Given the description of an element on the screen output the (x, y) to click on. 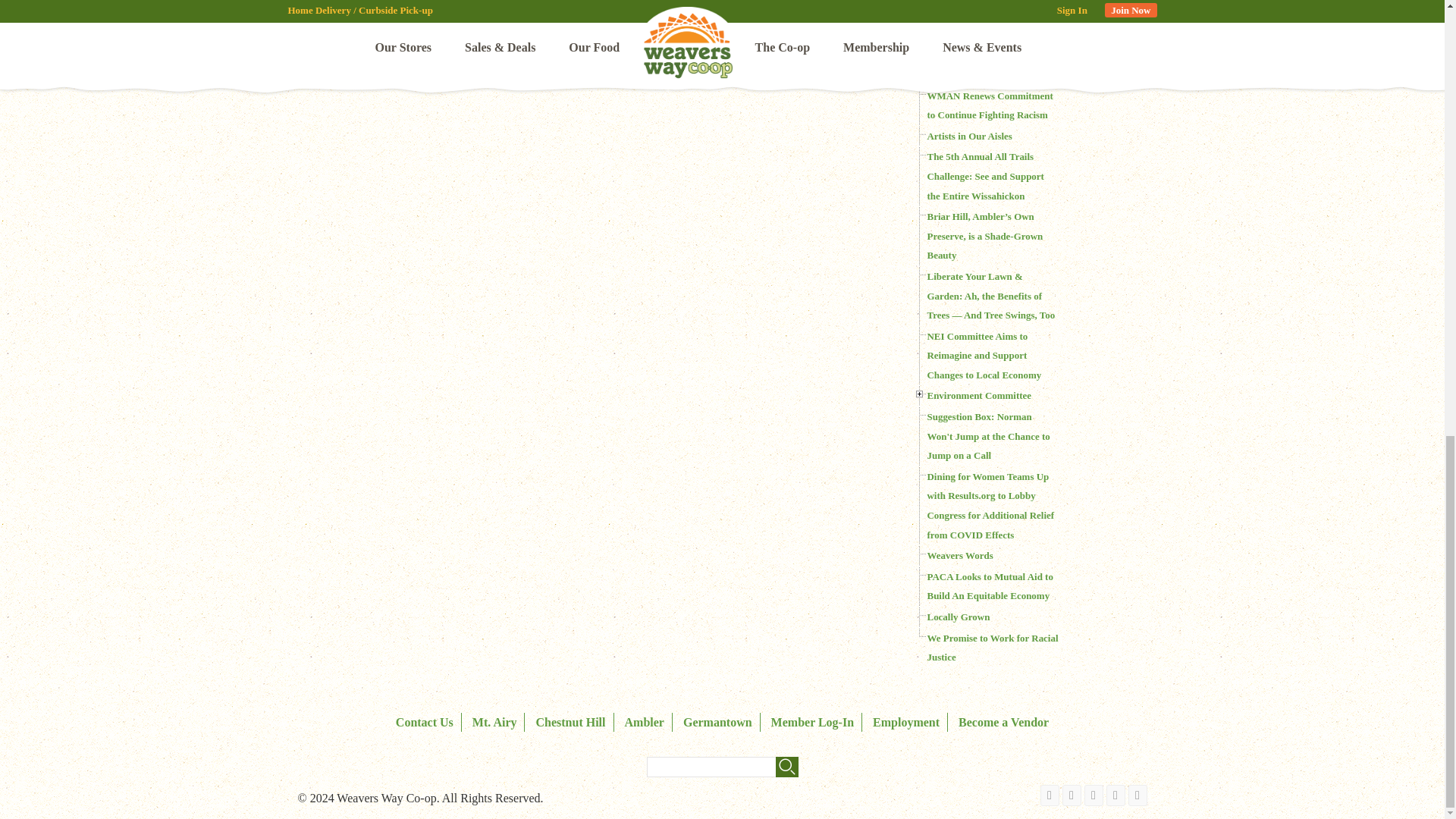
Enter the terms you wish to search for. (721, 766)
Search (785, 766)
